Given the description of an element on the screen output the (x, y) to click on. 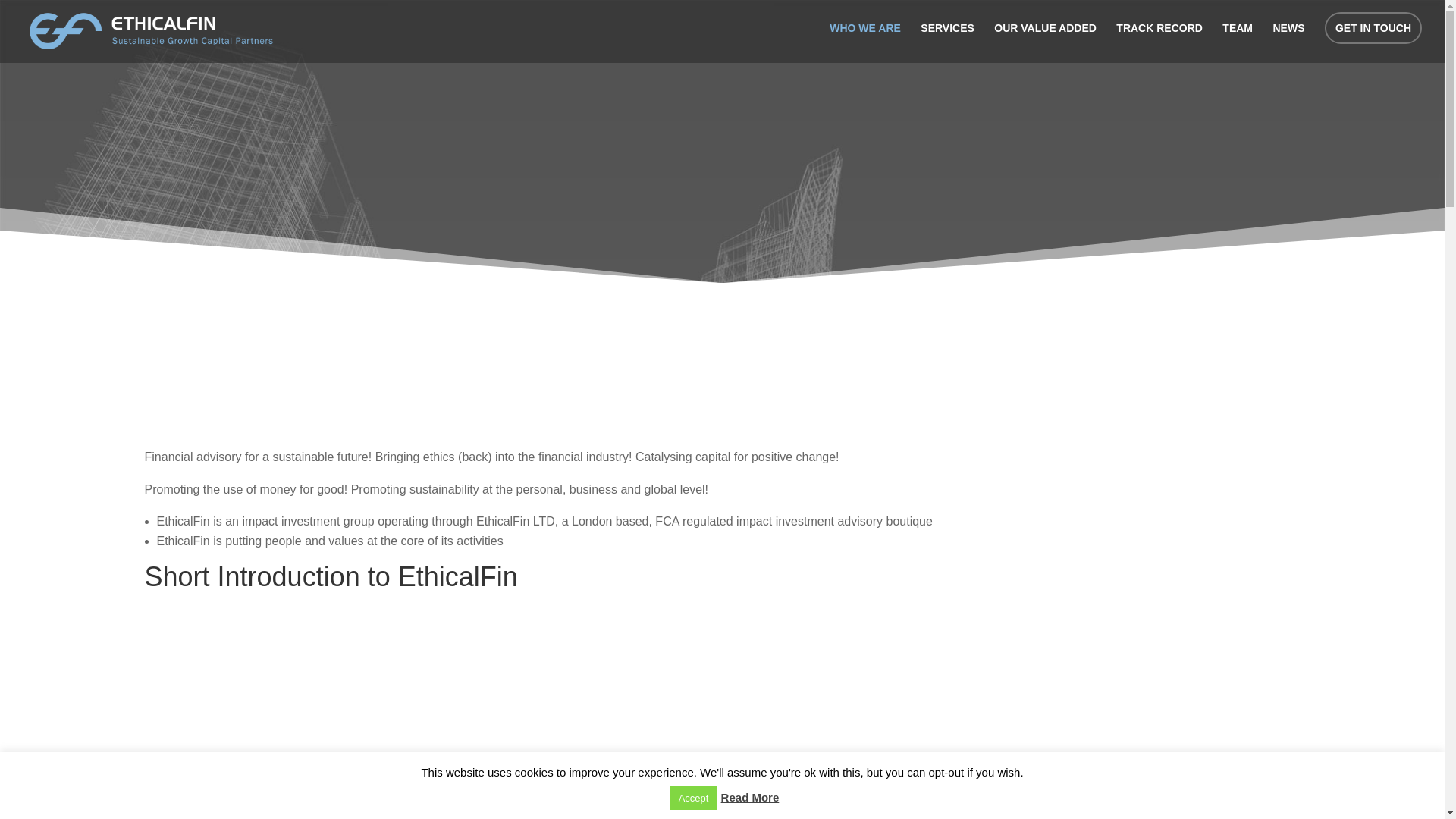
TRACK RECORD (1159, 42)
GET IN TOUCH (1373, 28)
OUR VALUE ADDED (1045, 42)
WHO WE ARE (865, 42)
SERVICES (947, 42)
